Given the description of an element on the screen output the (x, y) to click on. 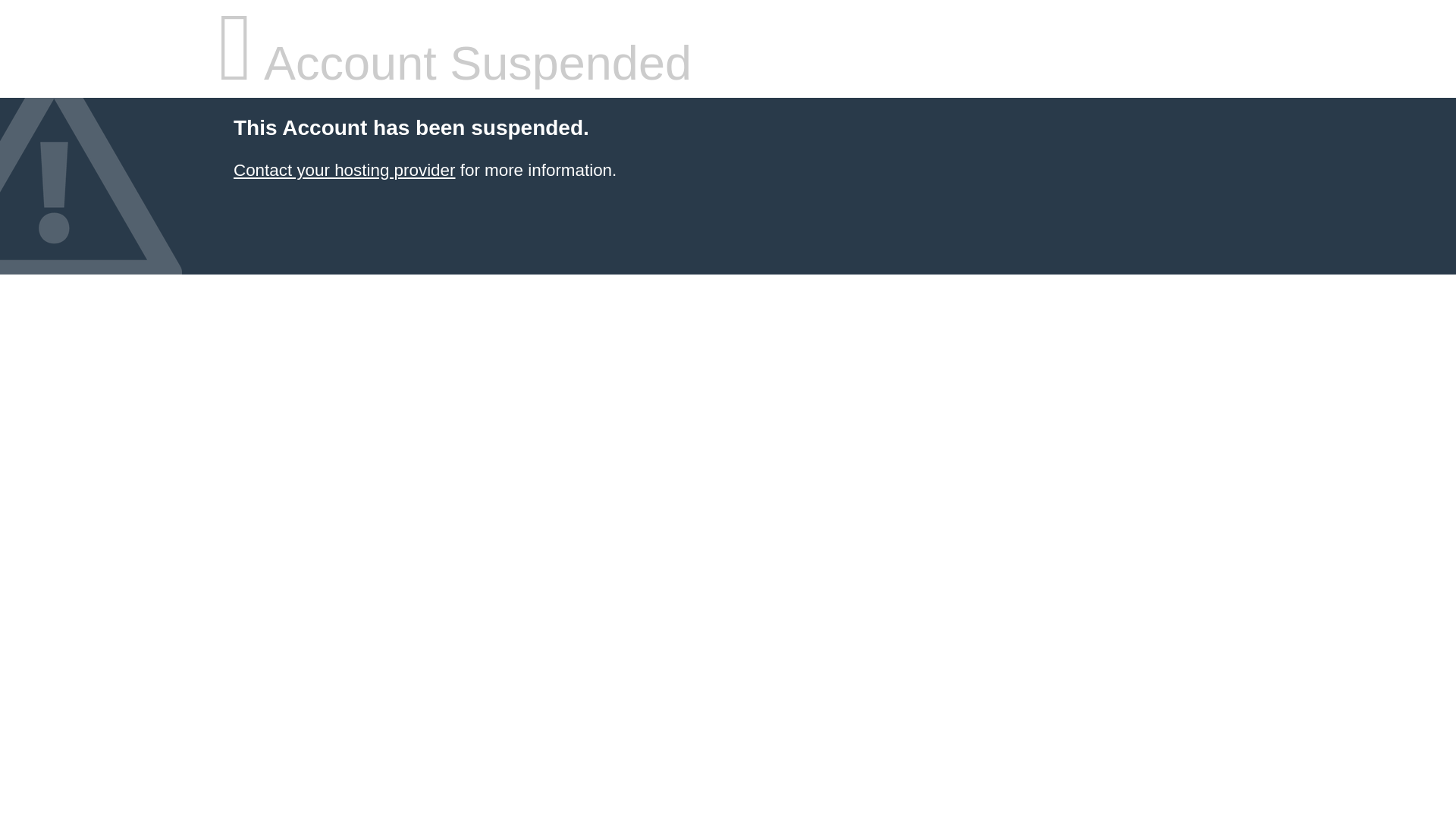
Contact your hosting provider (343, 169)
